Given the description of an element on the screen output the (x, y) to click on. 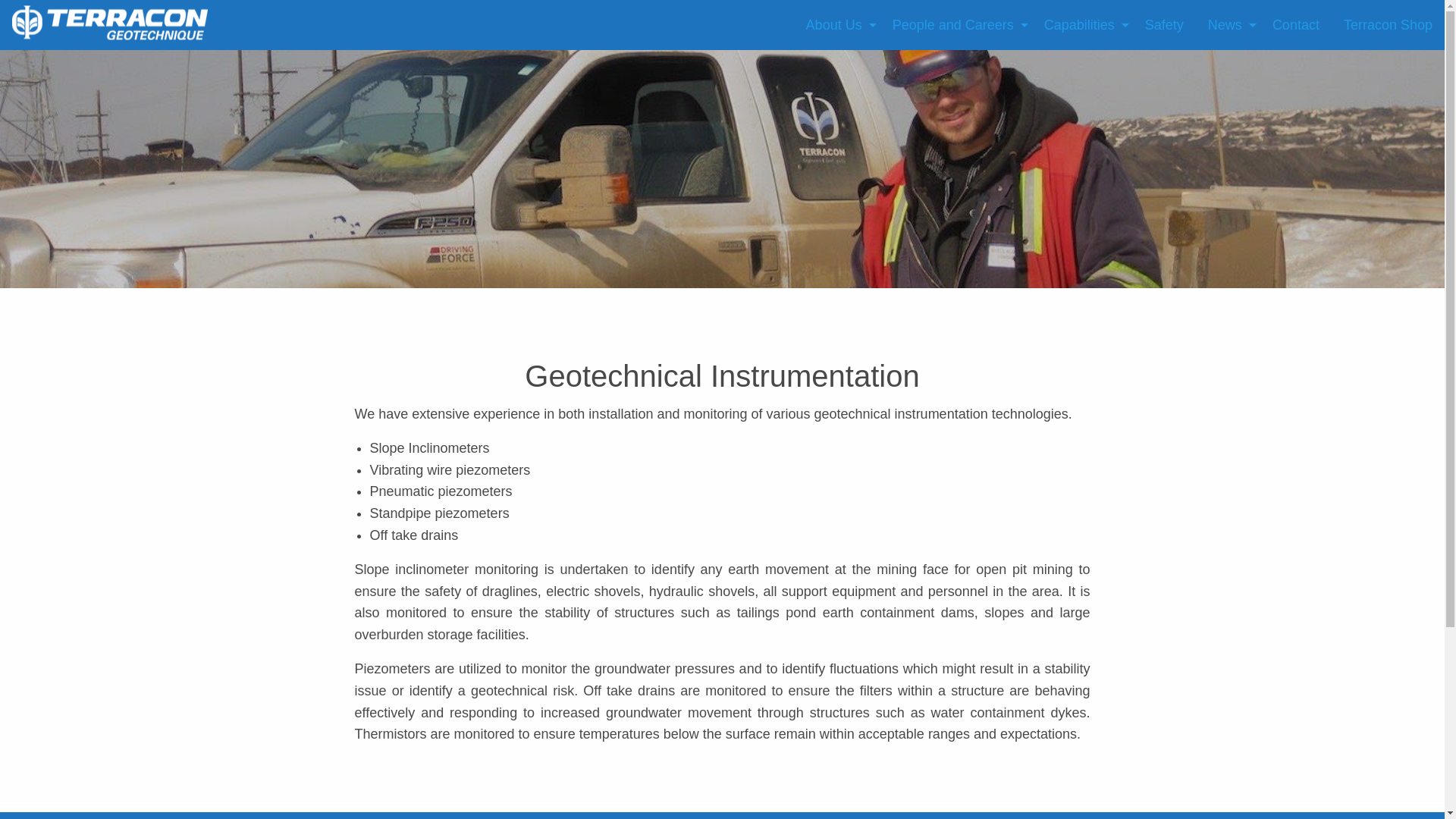
People and Careers (956, 24)
About Us (836, 24)
Safety (1163, 24)
Capabilities (1082, 24)
News (1227, 24)
